Given the description of an element on the screen output the (x, y) to click on. 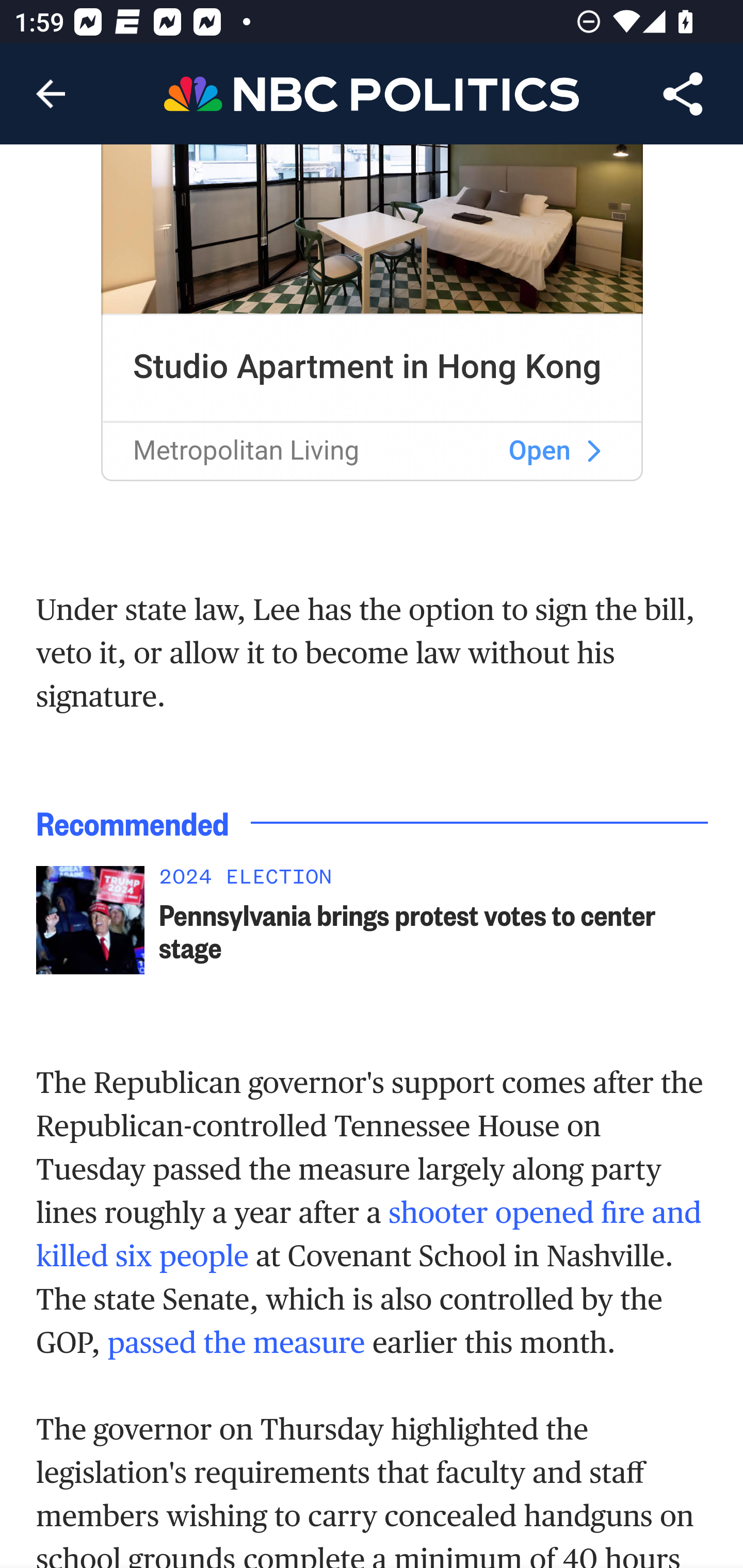
Navigate up (50, 93)
Share Article, button (683, 94)
Header, NBC Politics (371, 93)
apartments-inner2 (372, 229)
Studio Apartment in Hong Kong (367, 366)
apartments-inner2 (593, 451)
Metropolitan Living (246, 451)
Open (539, 451)
2024 ELECTION (434, 881)
pennsylvania-trump-biden-protest-votes-rcna149261 (90, 921)
Pennsylvania brings protest votes to center stage (434, 931)
shooter opened fire and killed six people  (369, 1234)
passed the measure (236, 1342)
